Given the description of an element on the screen output the (x, y) to click on. 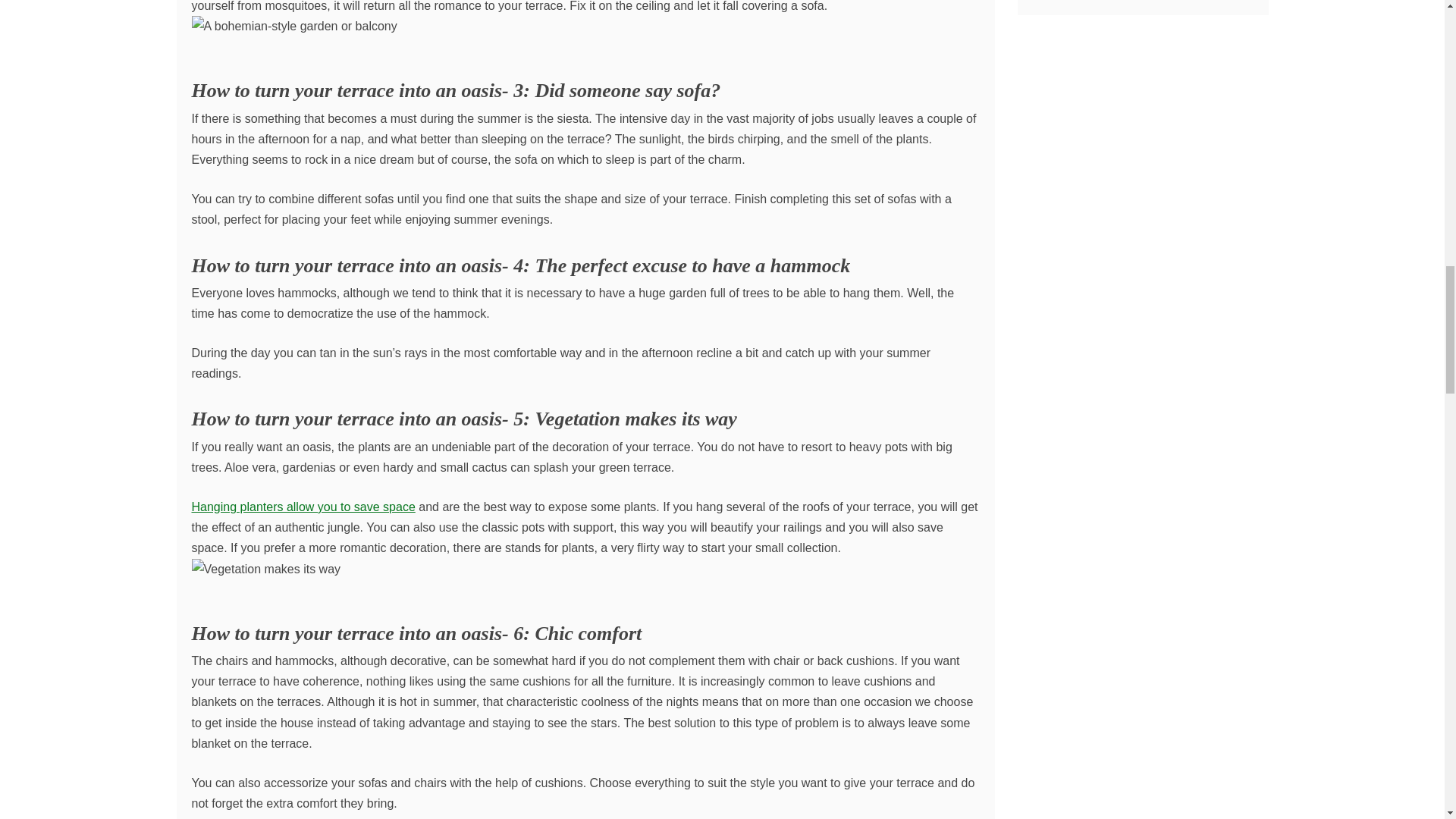
Vegetation makes its way (265, 568)
A bohemian-style garden or balcony (293, 25)
